Given the description of an element on the screen output the (x, y) to click on. 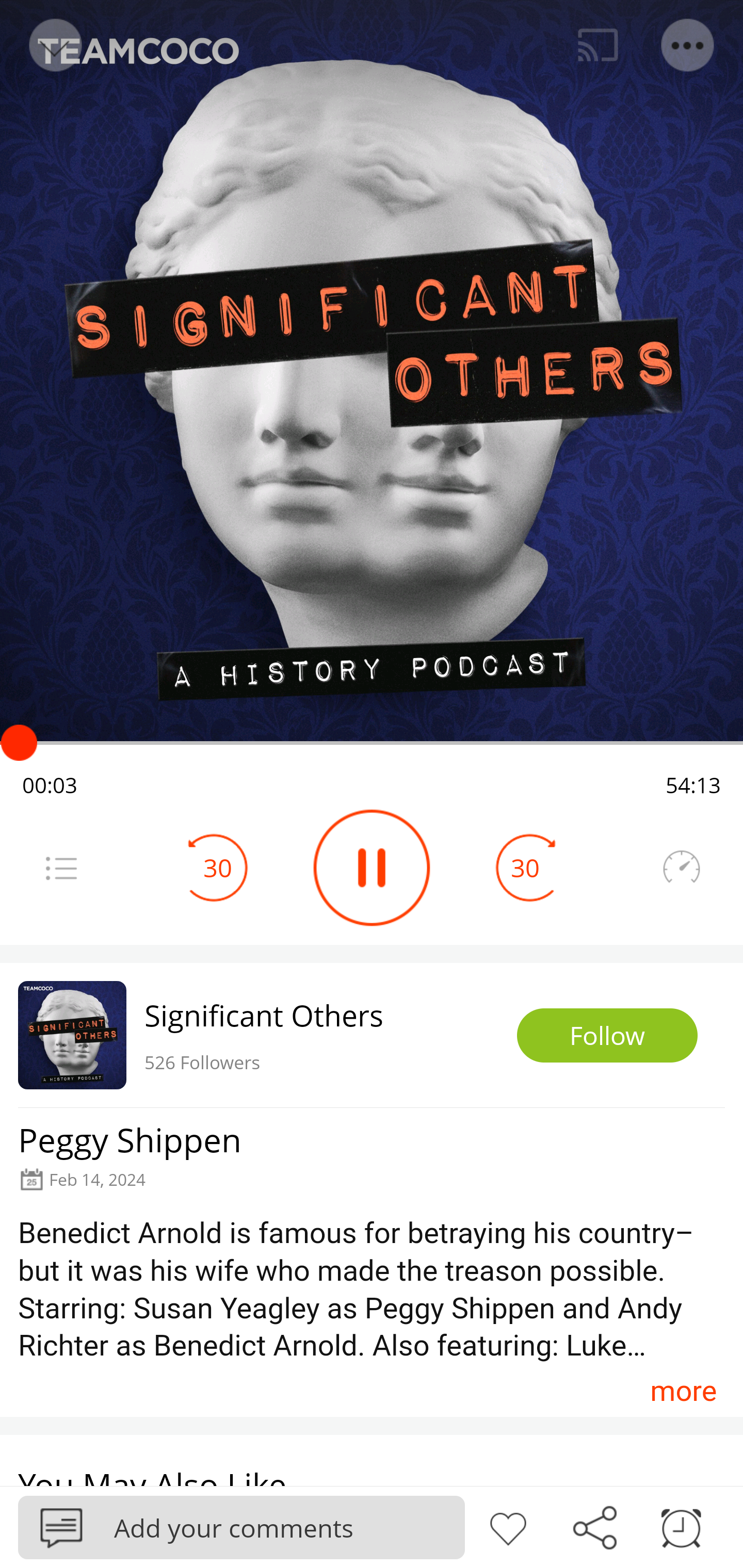
Back (53, 45)
Cast. Disconnected (597, 45)
Menu (688, 45)
Play (371, 867)
30 Seek Backward (217, 867)
30 Seek Forward (525, 867)
Menu (60, 867)
Speedometer (681, 867)
Significant Others 526 Followers Follow (371, 1034)
Follow (607, 1035)
more (682, 1390)
Like (508, 1526)
Share (594, 1526)
Sleep timer (681, 1526)
Podbean Add your comments (241, 1526)
